Given the description of an element on the screen output the (x, y) to click on. 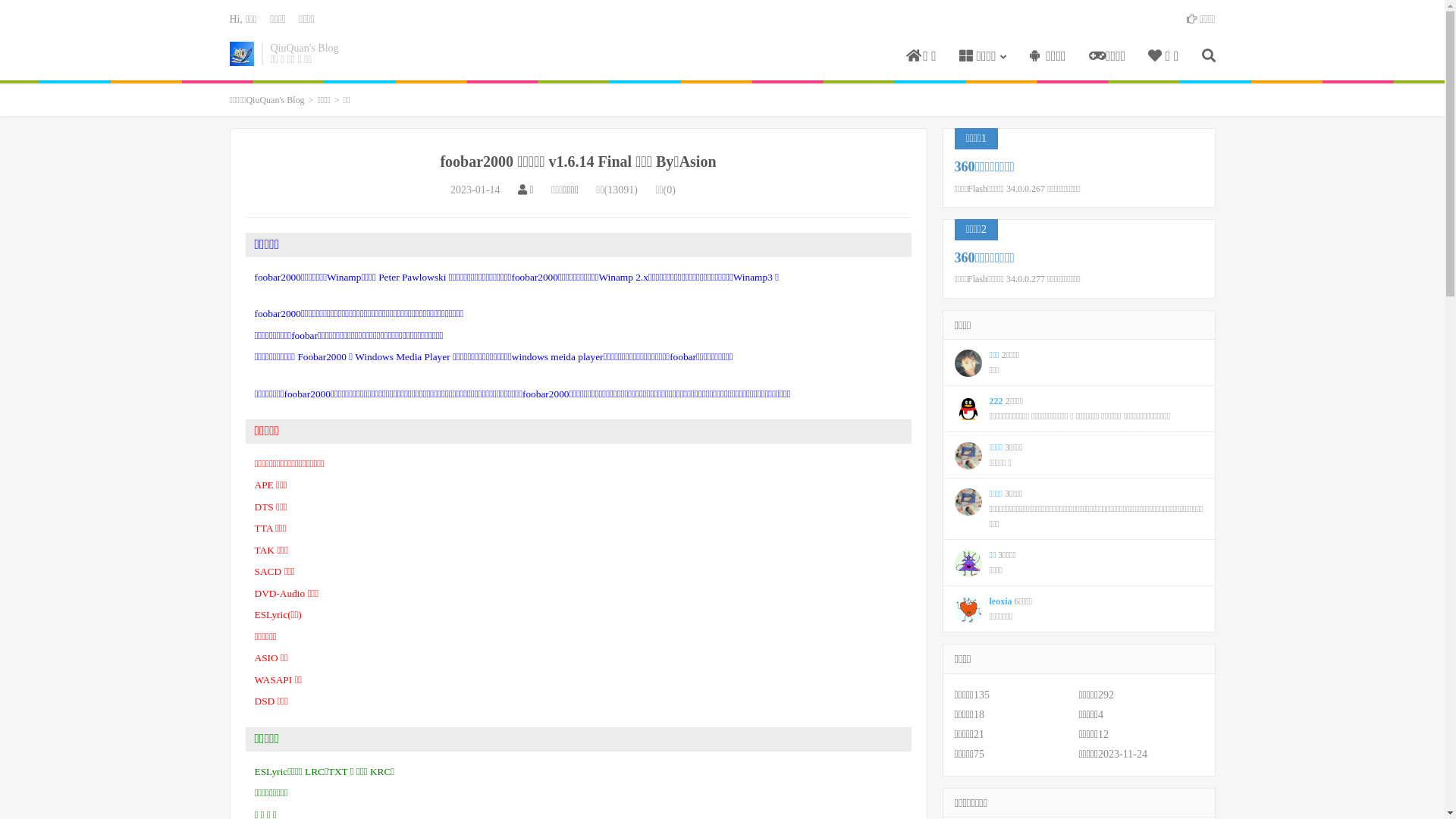
QiuQuan's Blog Element type: text (274, 99)
QiuQuan's Blog Element type: text (241, 53)
